Given the description of an element on the screen output the (x, y) to click on. 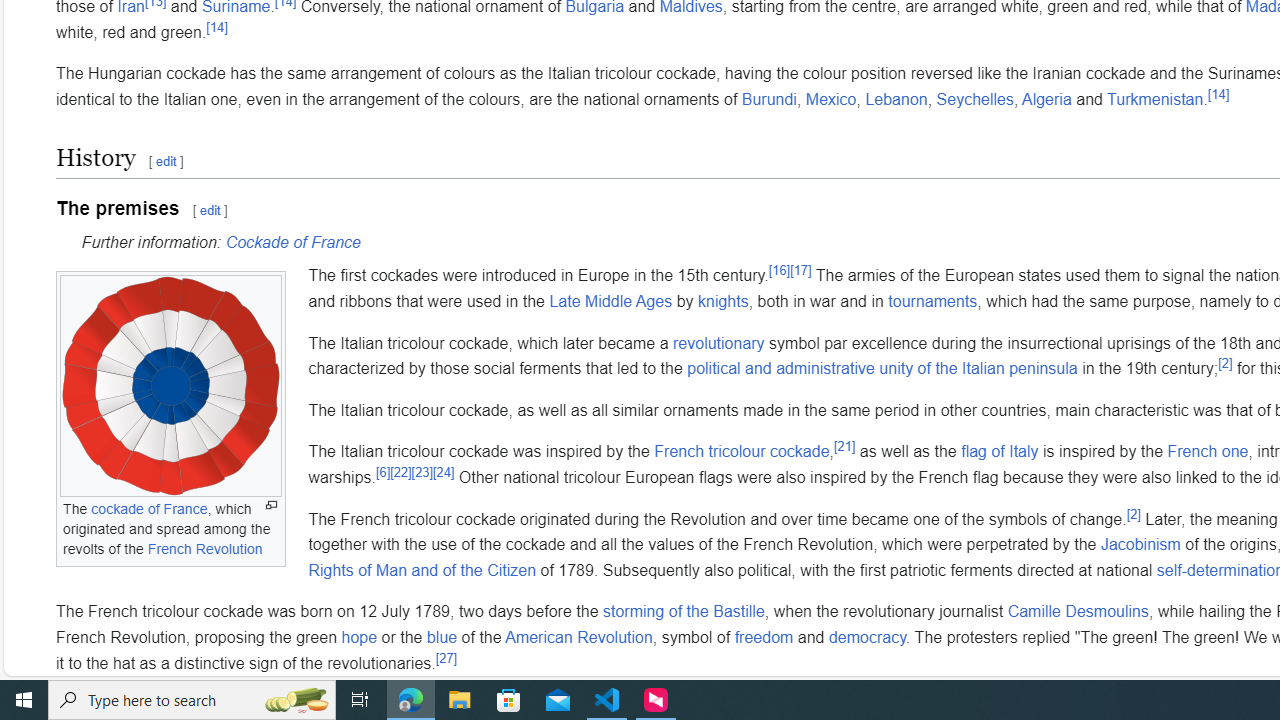
[21] (844, 447)
storming of the Bastille (683, 611)
Mexico (831, 99)
cockade of France (148, 509)
[22] (401, 471)
Class: mw-file-element (170, 386)
freedom (763, 636)
Lebanon (896, 99)
